Given the description of an element on the screen output the (x, y) to click on. 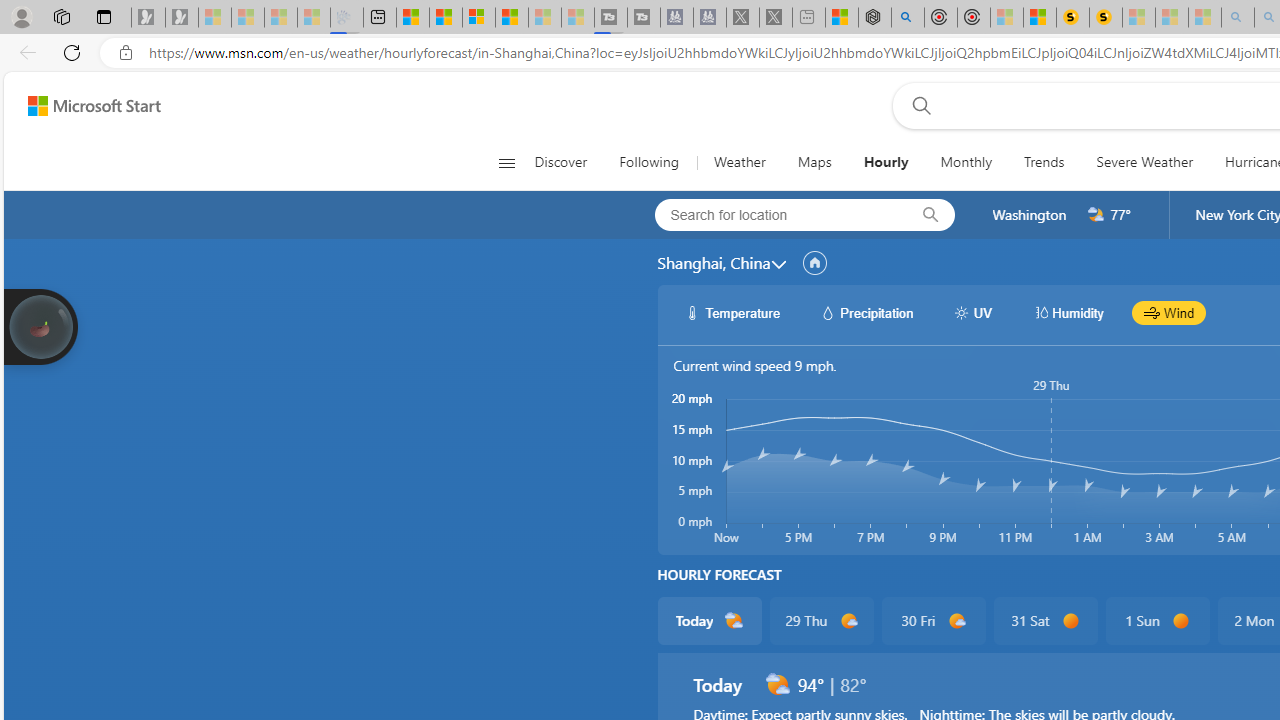
Monthly (966, 162)
hourlyChart/humidityWhite (1040, 312)
Shanghai, China (713, 263)
Hourly (885, 162)
Severe Weather (1144, 162)
hourlyChart/windBlack Wind (1169, 312)
locationName/setHomeLocation (814, 263)
Search for location (775, 214)
